Given the description of an element on the screen output the (x, y) to click on. 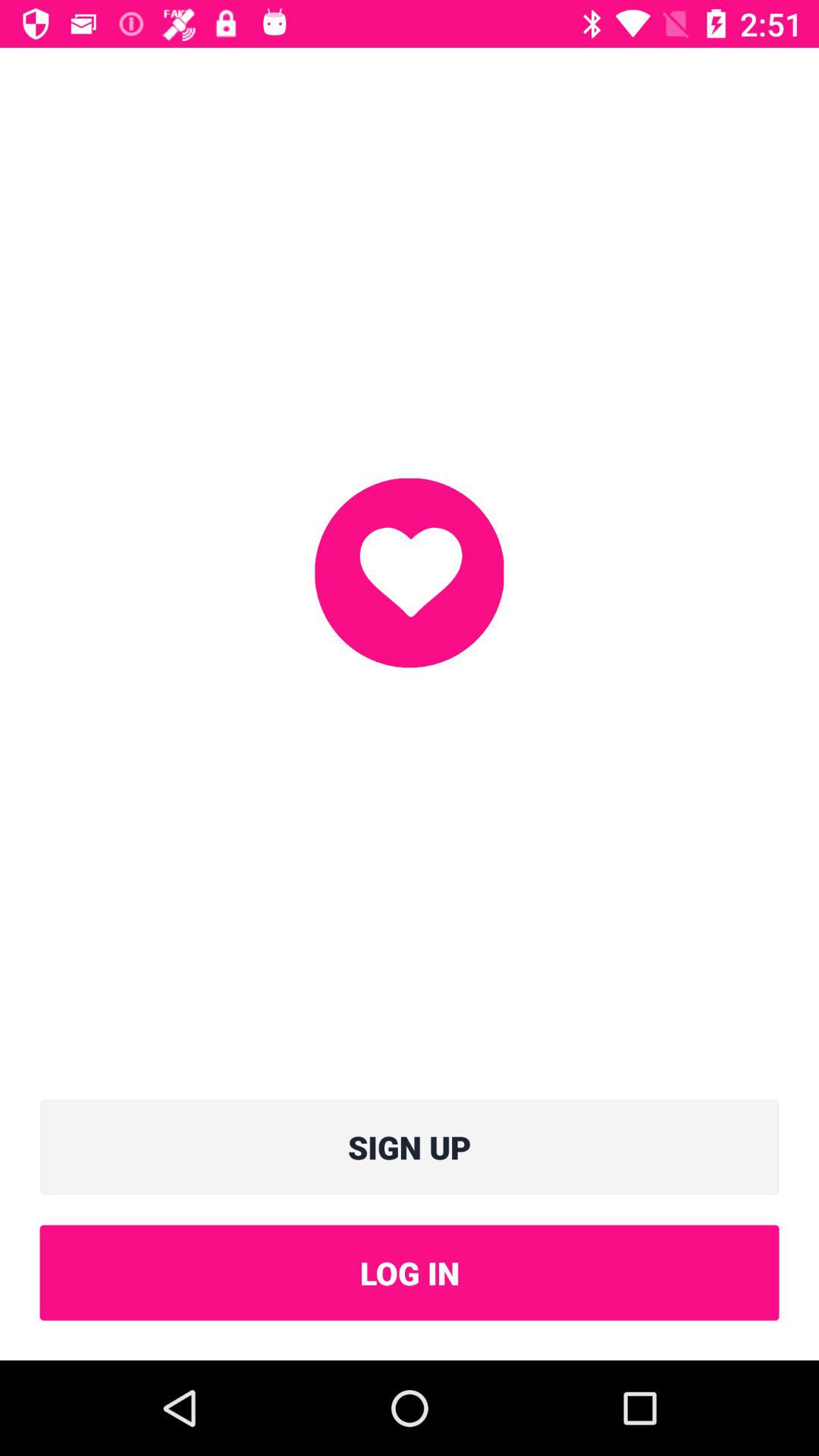
choose the sign up icon (409, 1146)
